Given the description of an element on the screen output the (x, y) to click on. 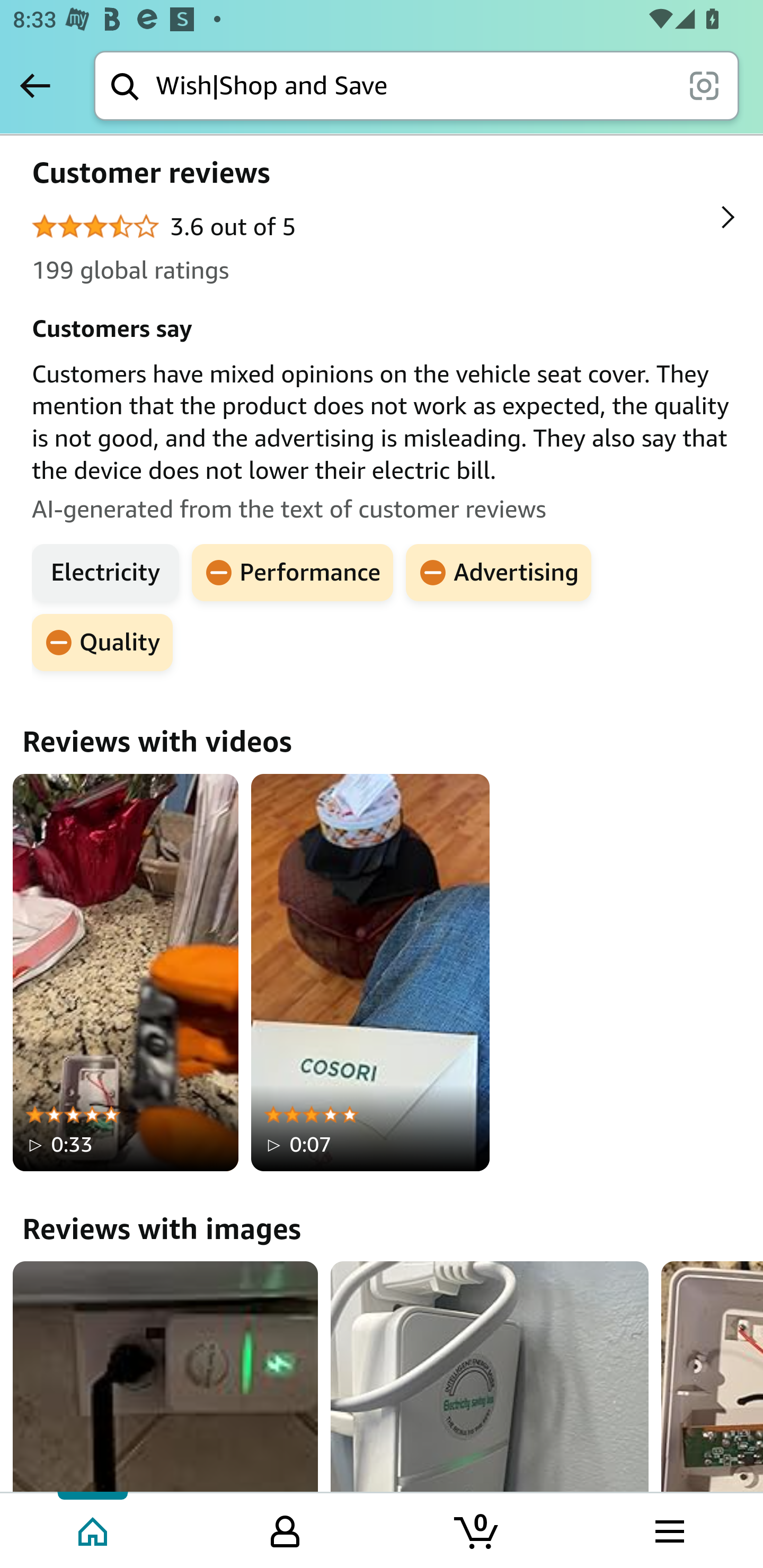
Back (35, 85)
Search Search Wish|Shop and Save scan it (416, 85)
scan it (704, 85)
Electricity (105, 573)
Performance (292, 573)
Advertising (498, 573)
Quality (102, 642)
Home Tab 1 of 4 (94, 1529)
Your Amazon.com Tab 2 of 4 (285, 1529)
Cart 0 item Tab 3 of 4 0 (477, 1529)
Browse menu Tab 4 of 4 (668, 1529)
